Given the description of an element on the screen output the (x, y) to click on. 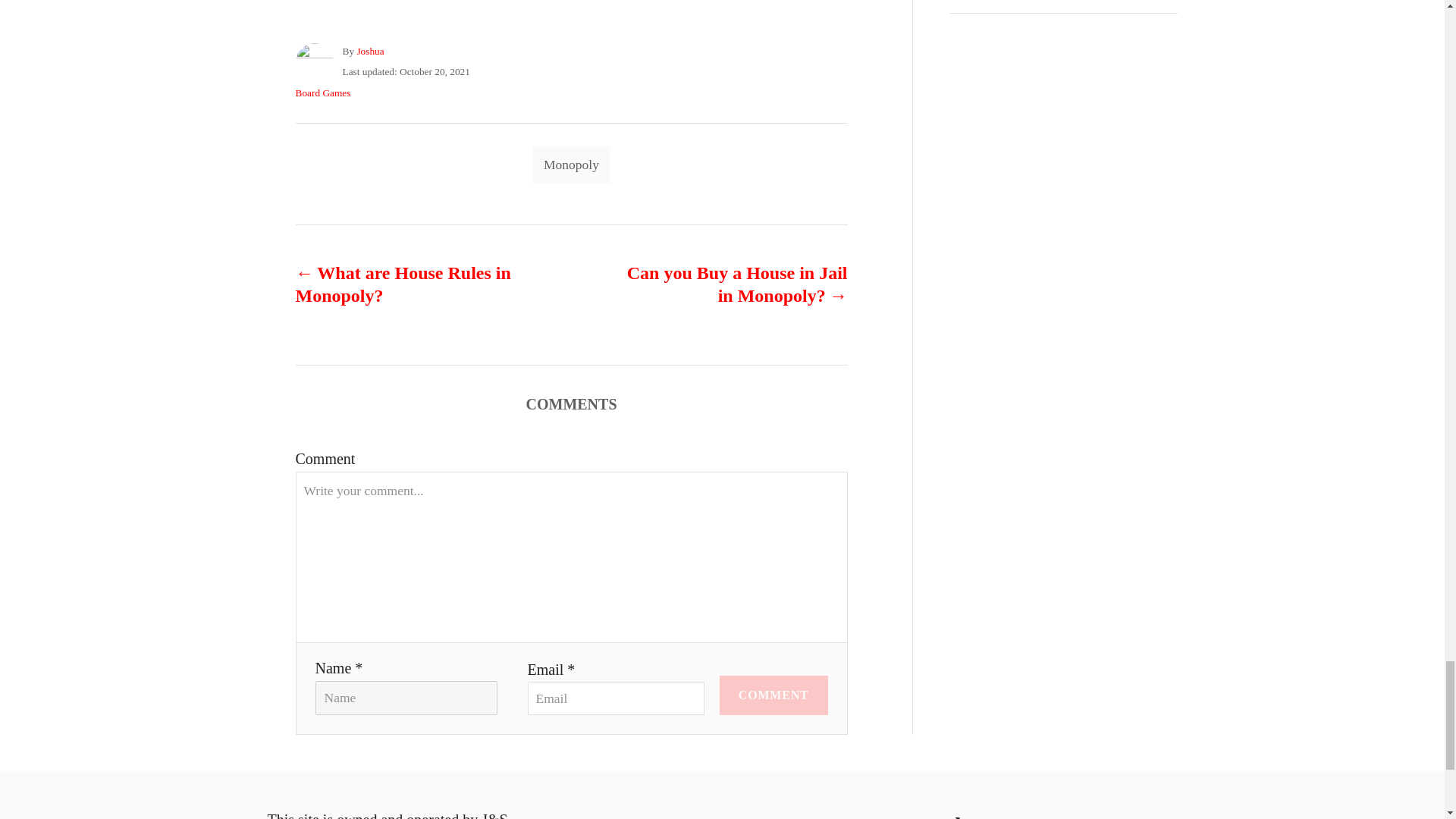
Joshua (370, 50)
Monopoly (571, 164)
Can you Buy a House in Jail in Monopoly? (736, 284)
Board Games (322, 91)
What are House Rules in Monopoly? (405, 284)
COMMENT (773, 694)
